Given the description of an element on the screen output the (x, y) to click on. 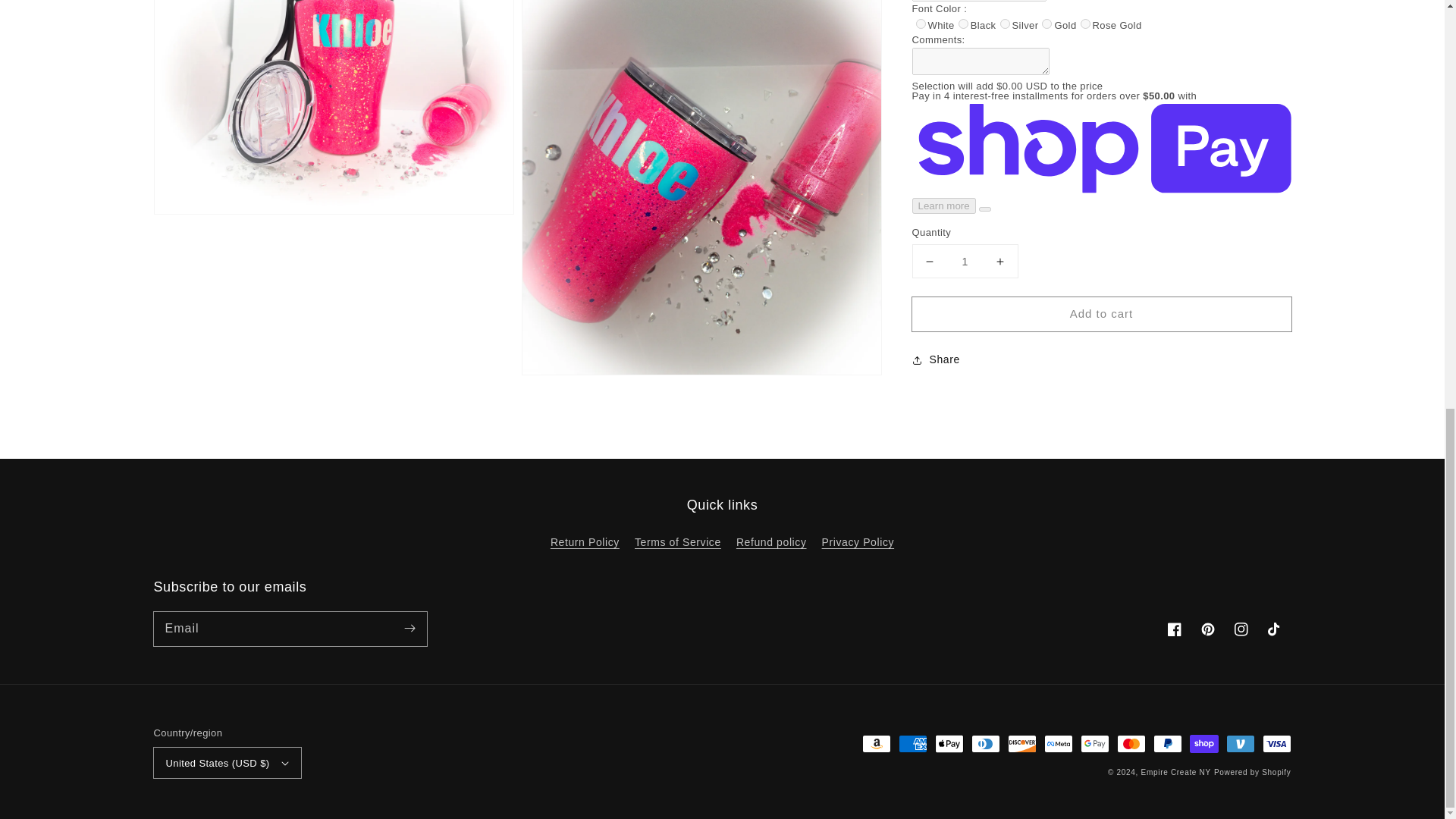
Silver (1005, 23)
Black (963, 23)
White (920, 23)
1 (964, 260)
Open media 1 in gallery view (333, 107)
Gold (1046, 23)
Rose Gold (1085, 23)
